Given the description of an element on the screen output the (x, y) to click on. 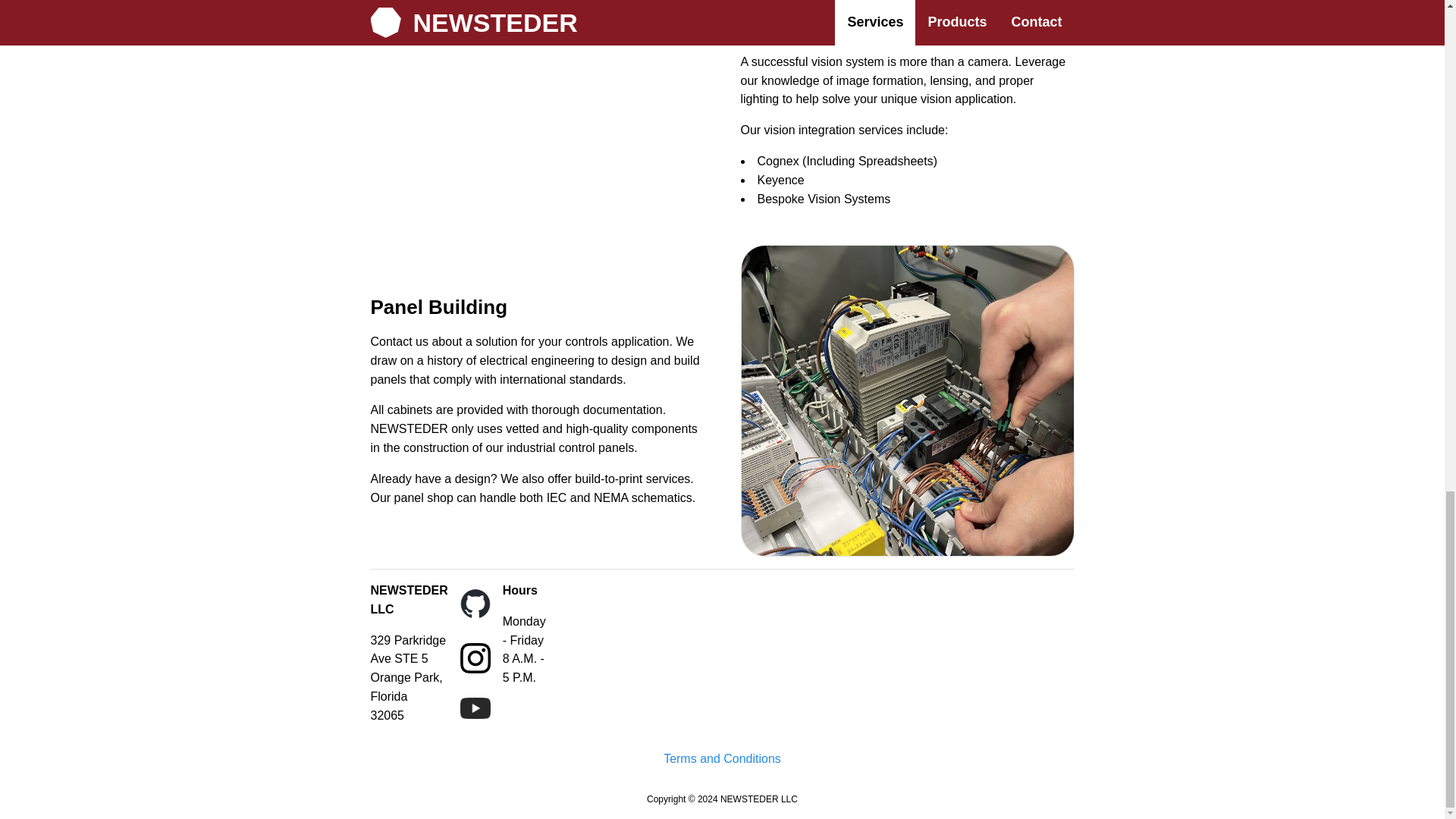
Terms and Conditions (721, 759)
